Given the description of an element on the screen output the (x, y) to click on. 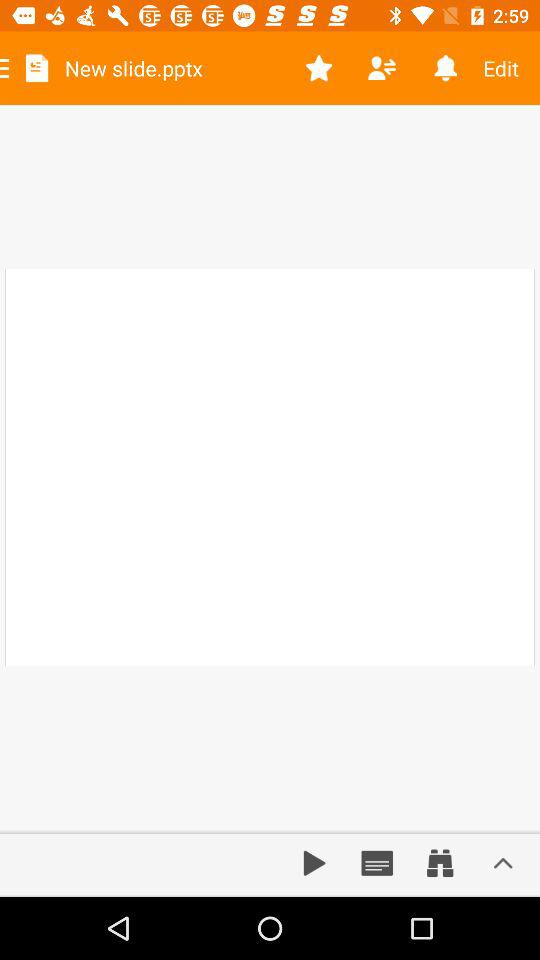
go to contact (381, 68)
